Given the description of an element on the screen output the (x, y) to click on. 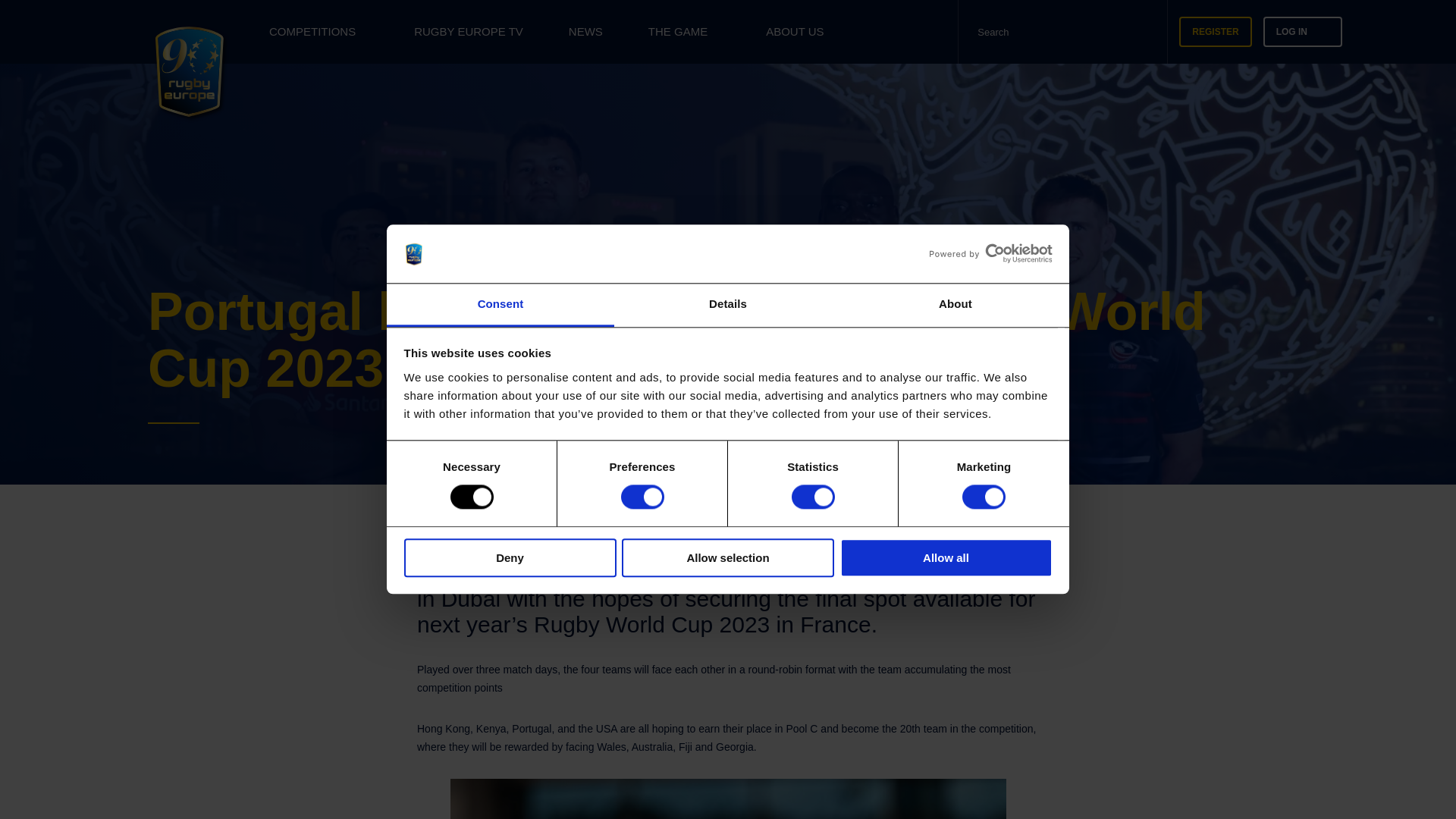
About (954, 304)
Consent (500, 304)
Details (727, 304)
